Given the description of an element on the screen output the (x, y) to click on. 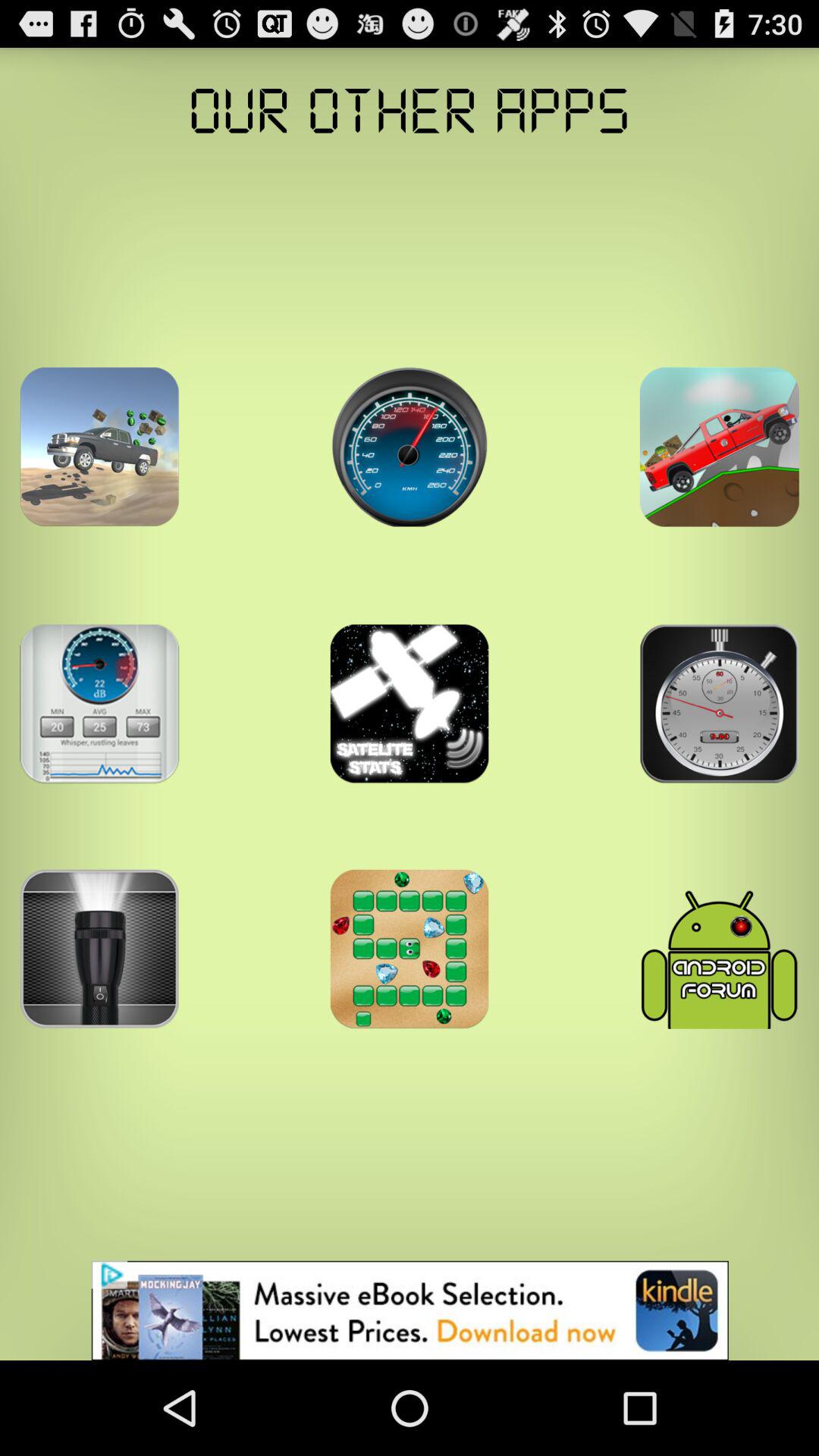
antivirus icon (719, 948)
